Given the description of an element on the screen output the (x, y) to click on. 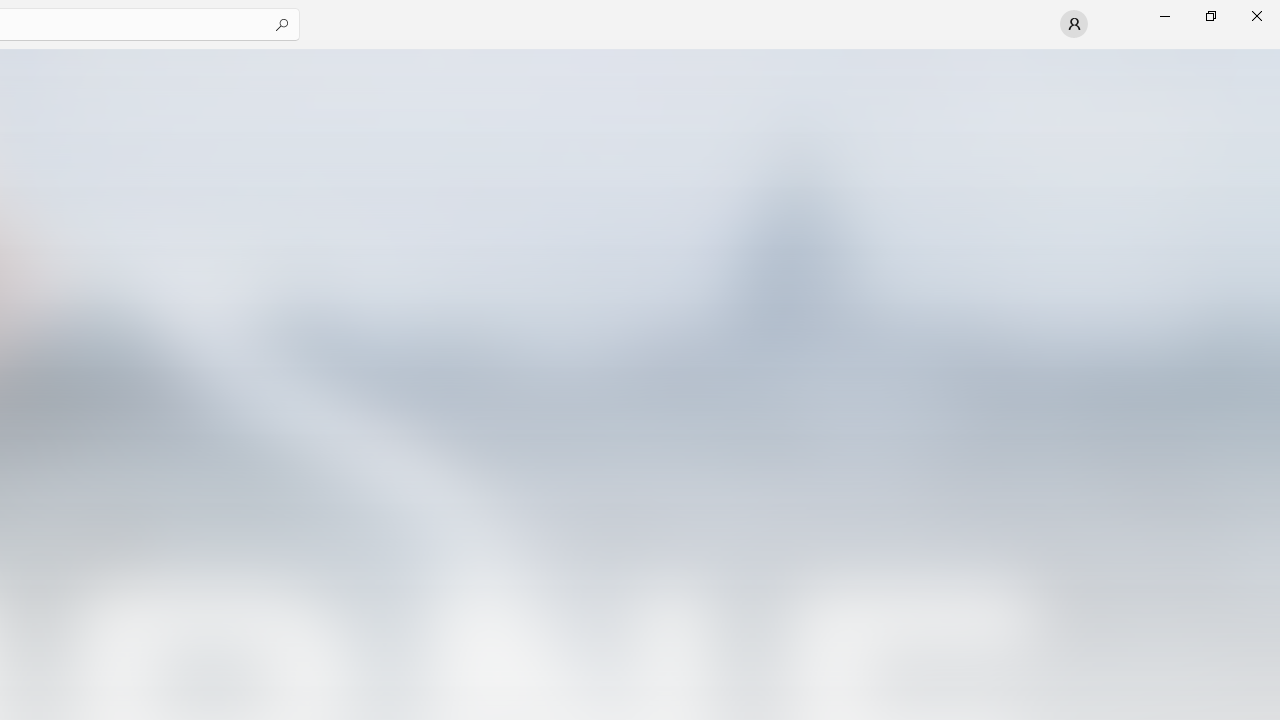
User profile (1073, 24)
Close Microsoft Store (1256, 15)
Restore Microsoft Store (1210, 15)
Minimize Microsoft Store (1164, 15)
